Given the description of an element on the screen output the (x, y) to click on. 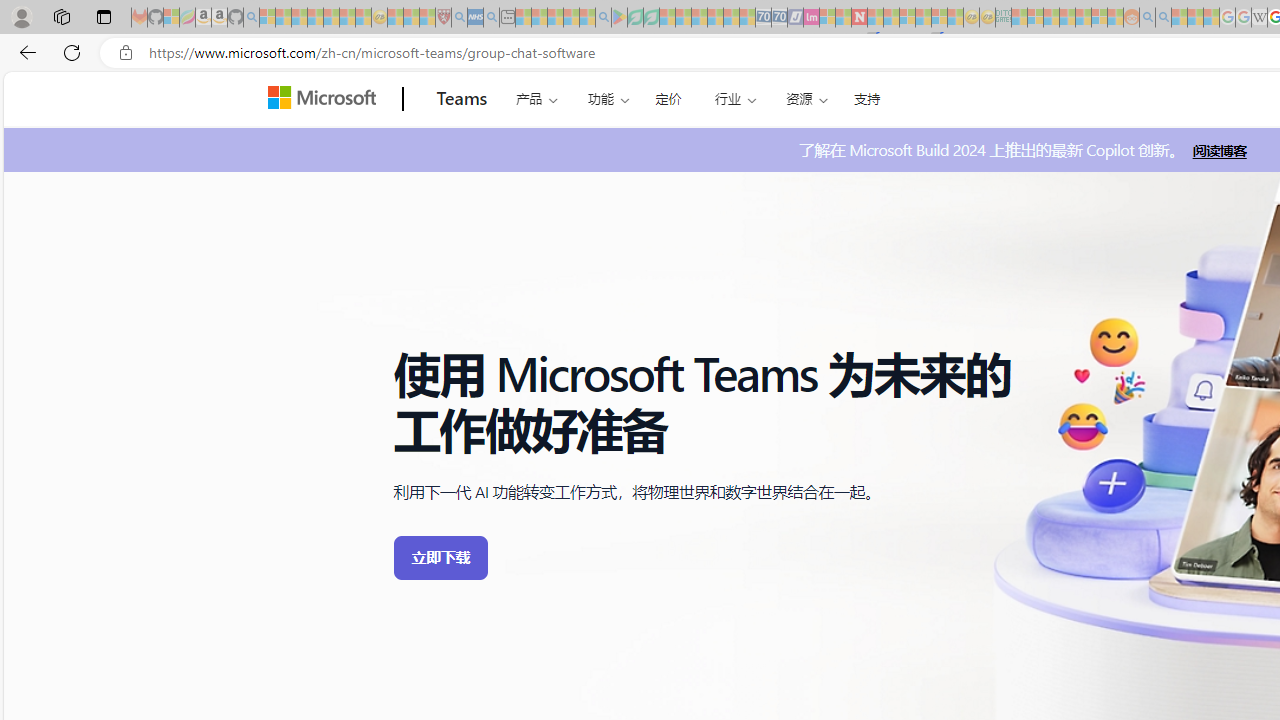
utah sues federal government - Search - Sleeping (491, 17)
Terms of Use Agreement - Sleeping (635, 17)
MSNBC - MSN - Sleeping (1019, 17)
Robert H. Shmerling, MD - Harvard Health - Sleeping (443, 17)
Microsoft (326, 99)
